Given the description of an element on the screen output the (x, y) to click on. 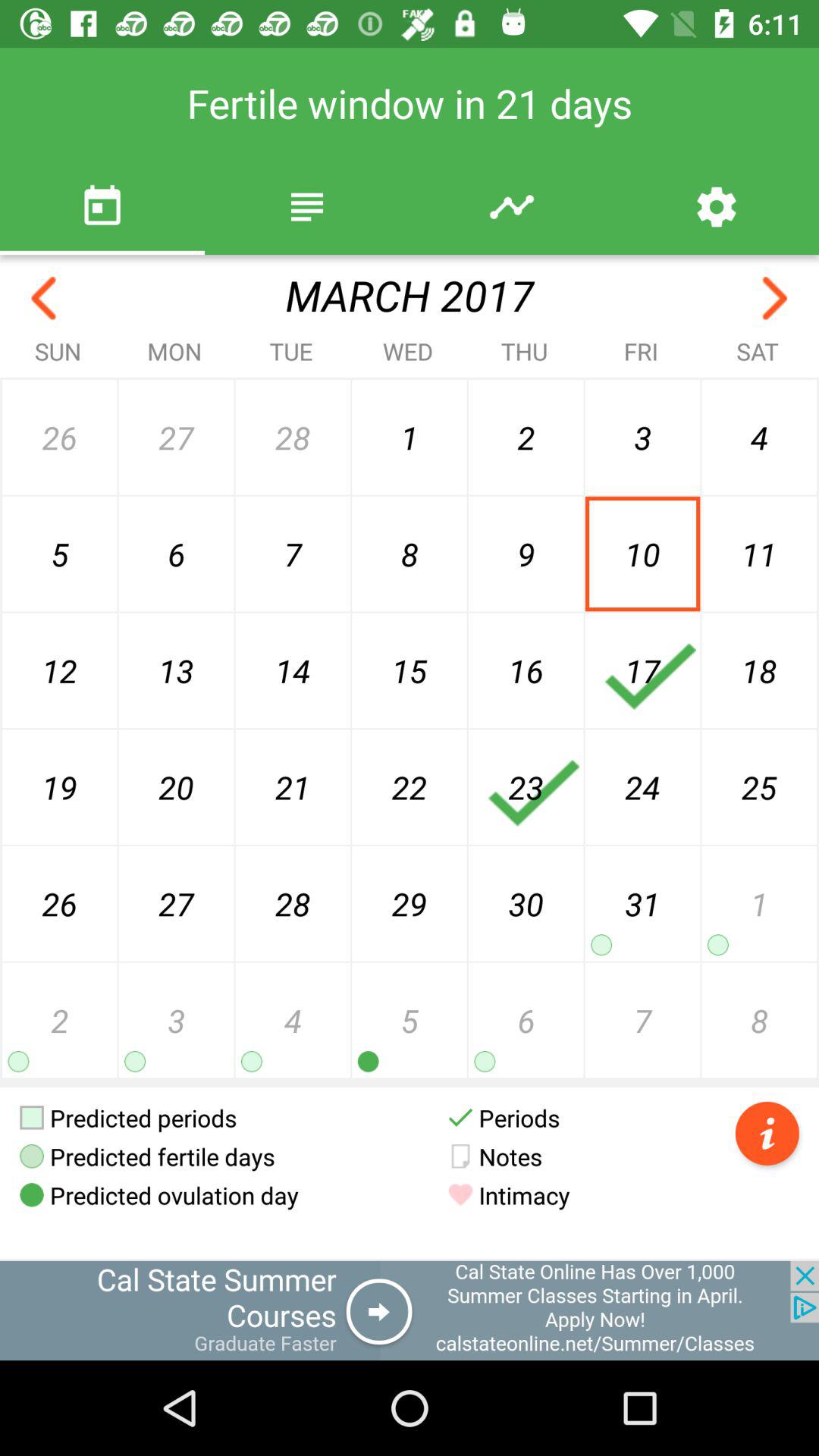
go to next month (775, 298)
